Given the description of an element on the screen output the (x, y) to click on. 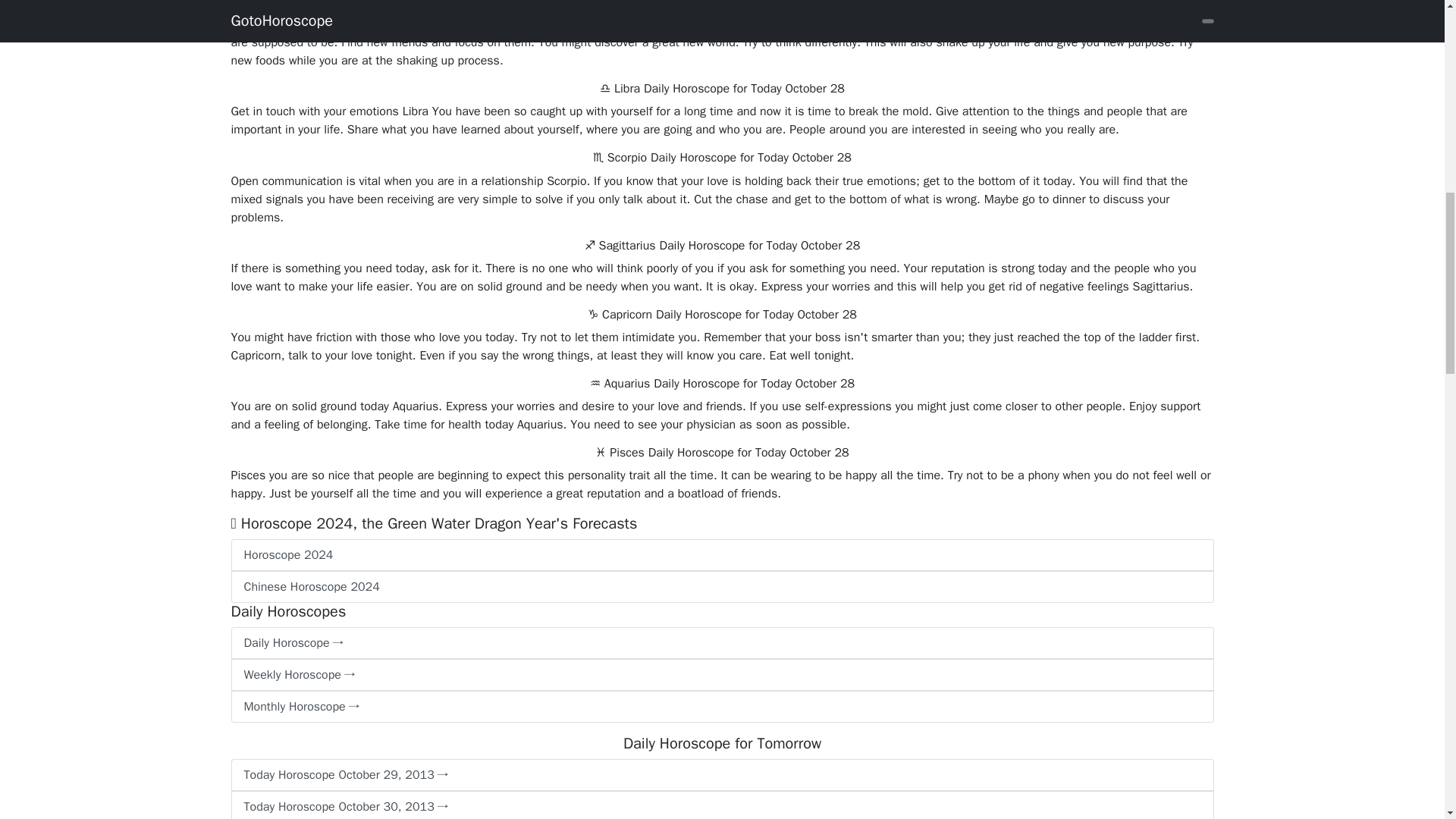
Today Horoscope October 29, 2013 (721, 775)
Today Horoscope October 30, 2013 (721, 805)
Daily Horoscope (721, 643)
Monthly Horoscope (721, 706)
Weekly Horoscope (721, 675)
Chinese Horoscope 2024 (721, 586)
Horoscope 2024 (721, 554)
